Given the description of an element on the screen output the (x, y) to click on. 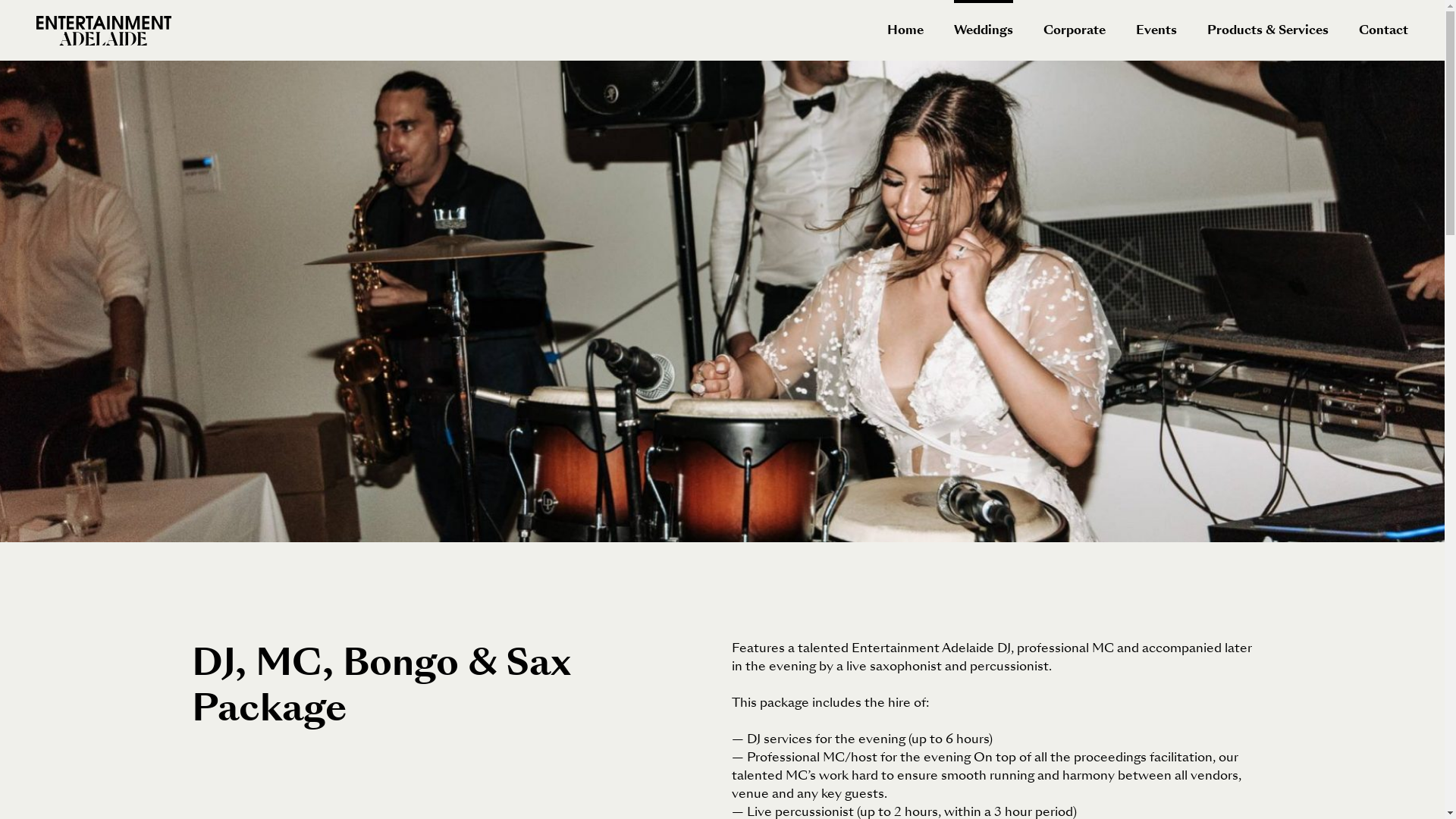
Home Element type: text (905, 30)
Events Element type: text (1155, 30)
Contact Element type: text (1383, 30)
Corporate Element type: text (1074, 30)
Weddings Element type: text (983, 30)
Products & Services Element type: text (1267, 30)
